Given the description of an element on the screen output the (x, y) to click on. 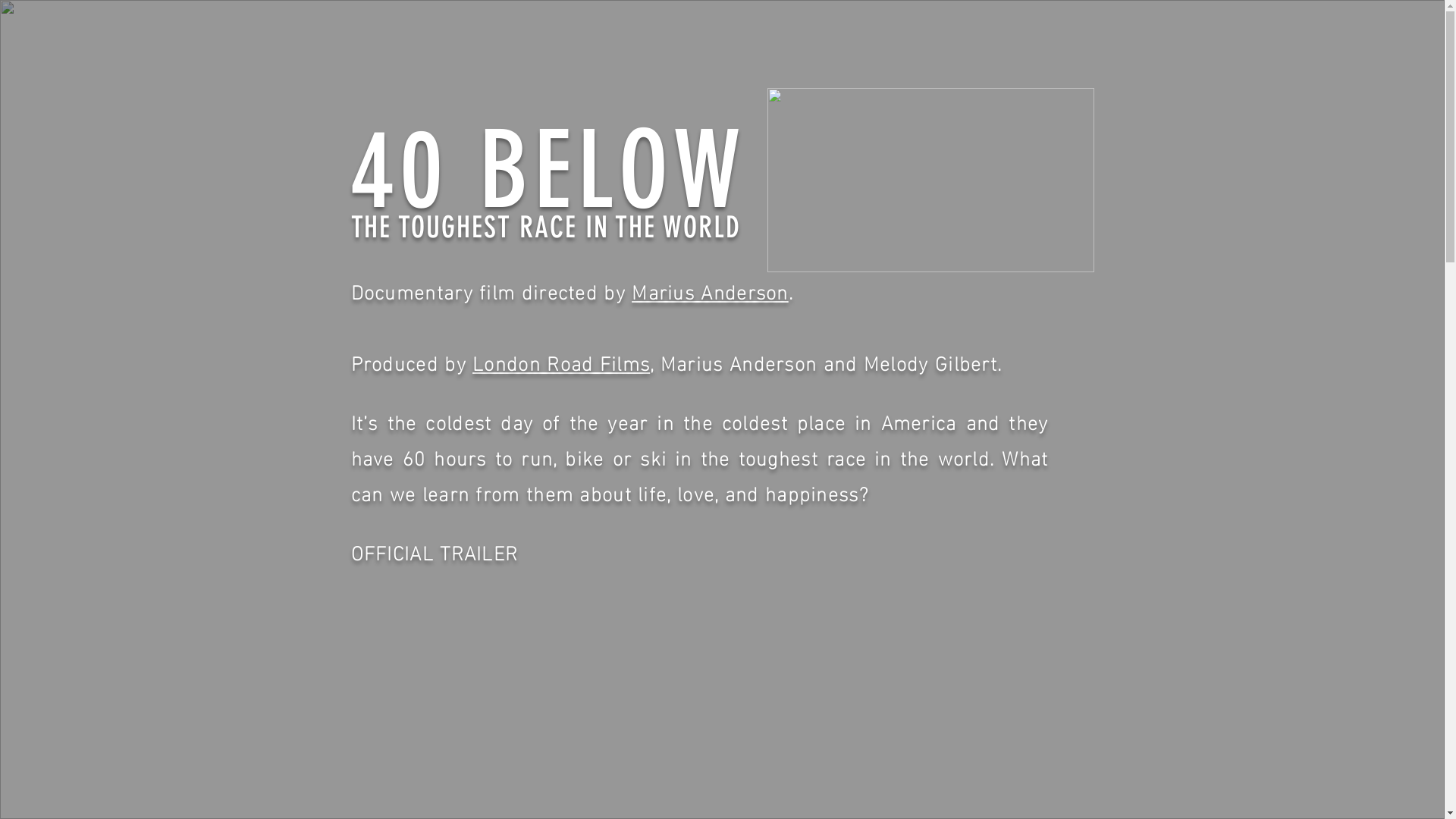
London Road Films Element type: text (560, 361)
Marius Anderson Element type: text (709, 289)
